Given the description of an element on the screen output the (x, y) to click on. 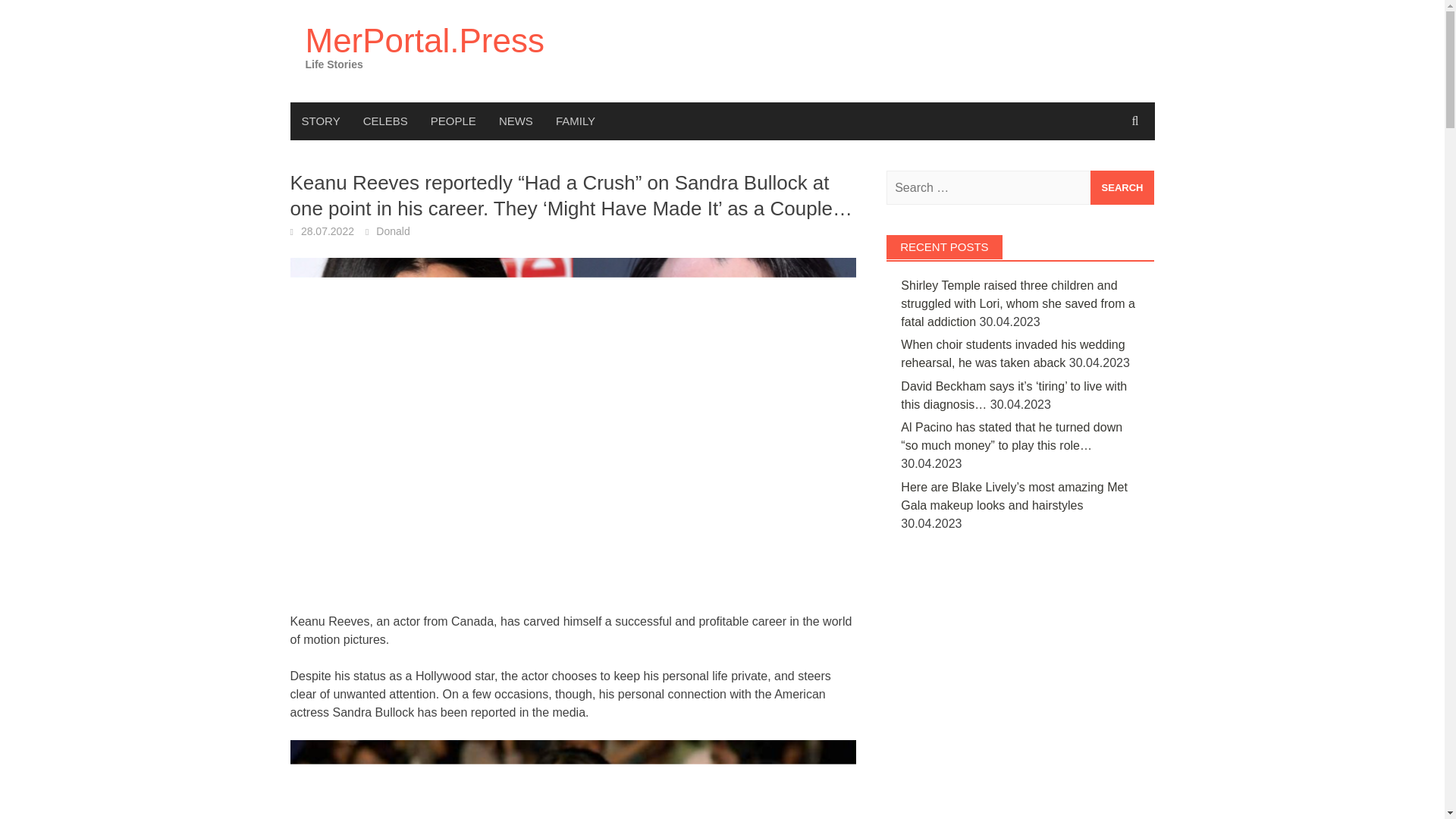
Search (1122, 187)
NEWS (515, 121)
PEOPLE (453, 121)
28.07.2022 (327, 231)
MerPortal.Press (423, 40)
CELEBS (385, 121)
STORY (319, 121)
FAMILY (575, 121)
Donald (392, 231)
